Given the description of an element on the screen output the (x, y) to click on. 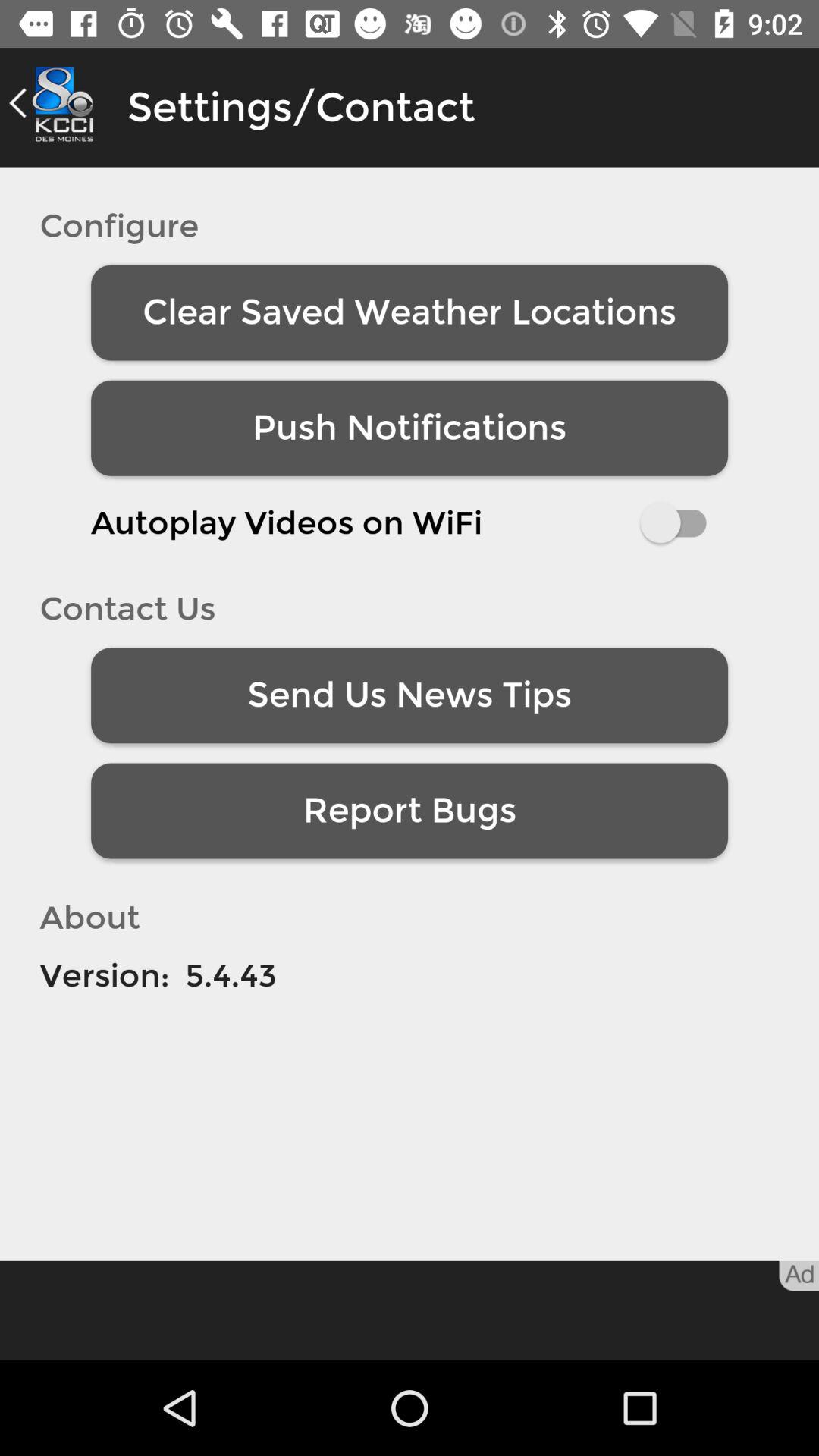
tap the report bugs icon (409, 810)
